Given the description of an element on the screen output the (x, y) to click on. 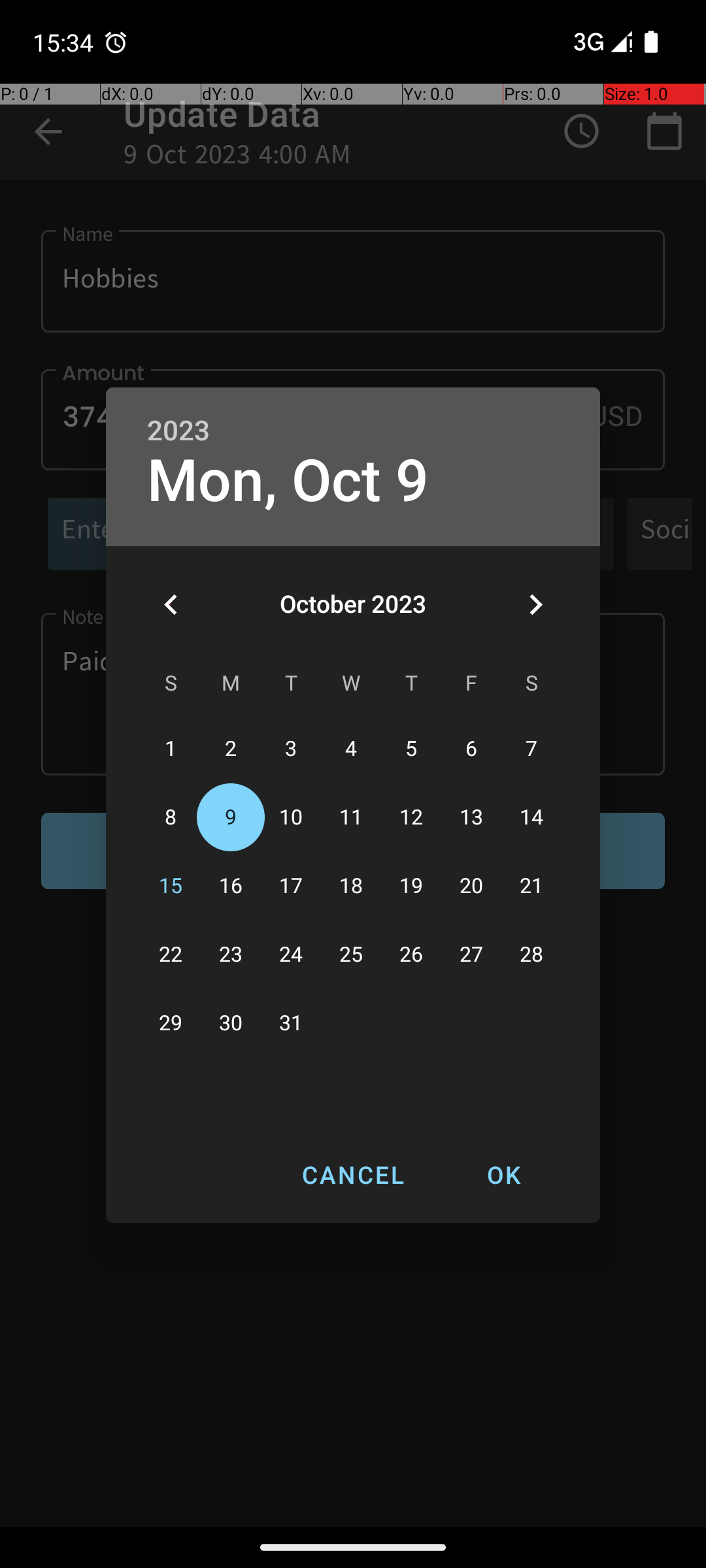
Mon, Oct 9 Element type: android.widget.TextView (287, 480)
